Given the description of an element on the screen output the (x, y) to click on. 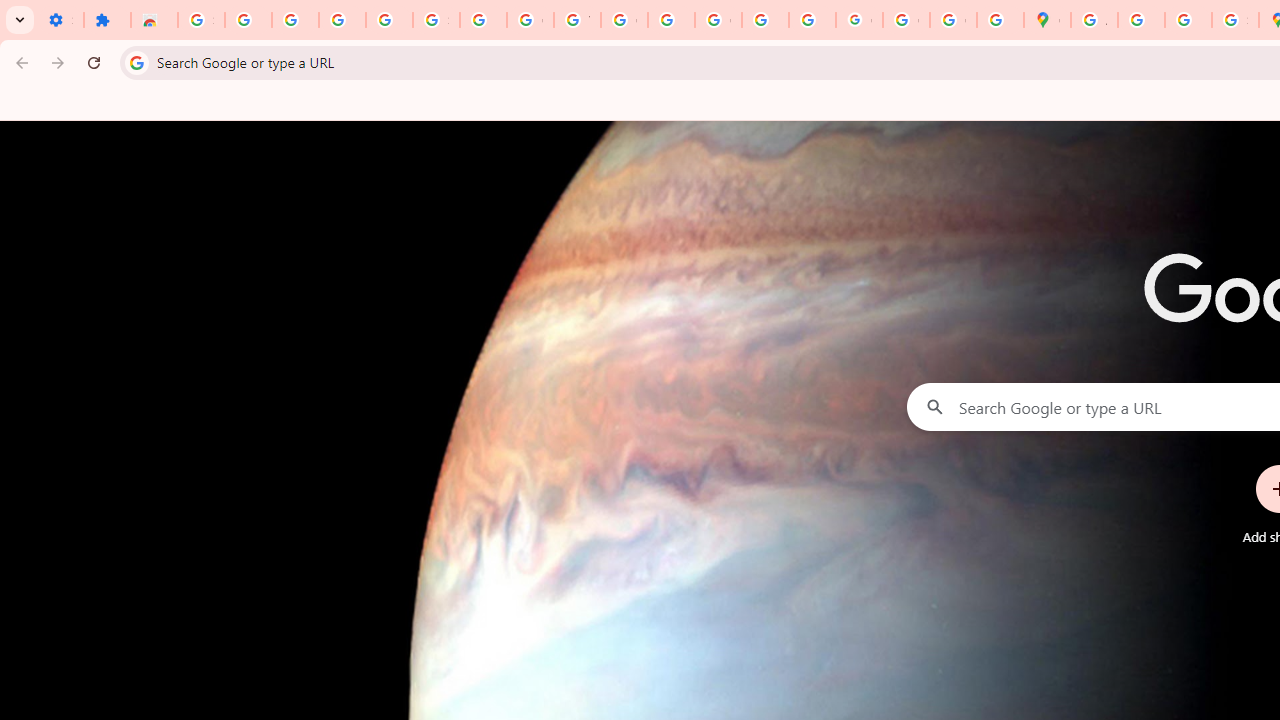
https://scholar.google.com/ (671, 20)
Sign in - Google Accounts (436, 20)
Google Maps (1047, 20)
Google Account (530, 20)
Settings - On startup (60, 20)
